Given the description of an element on the screen output the (x, y) to click on. 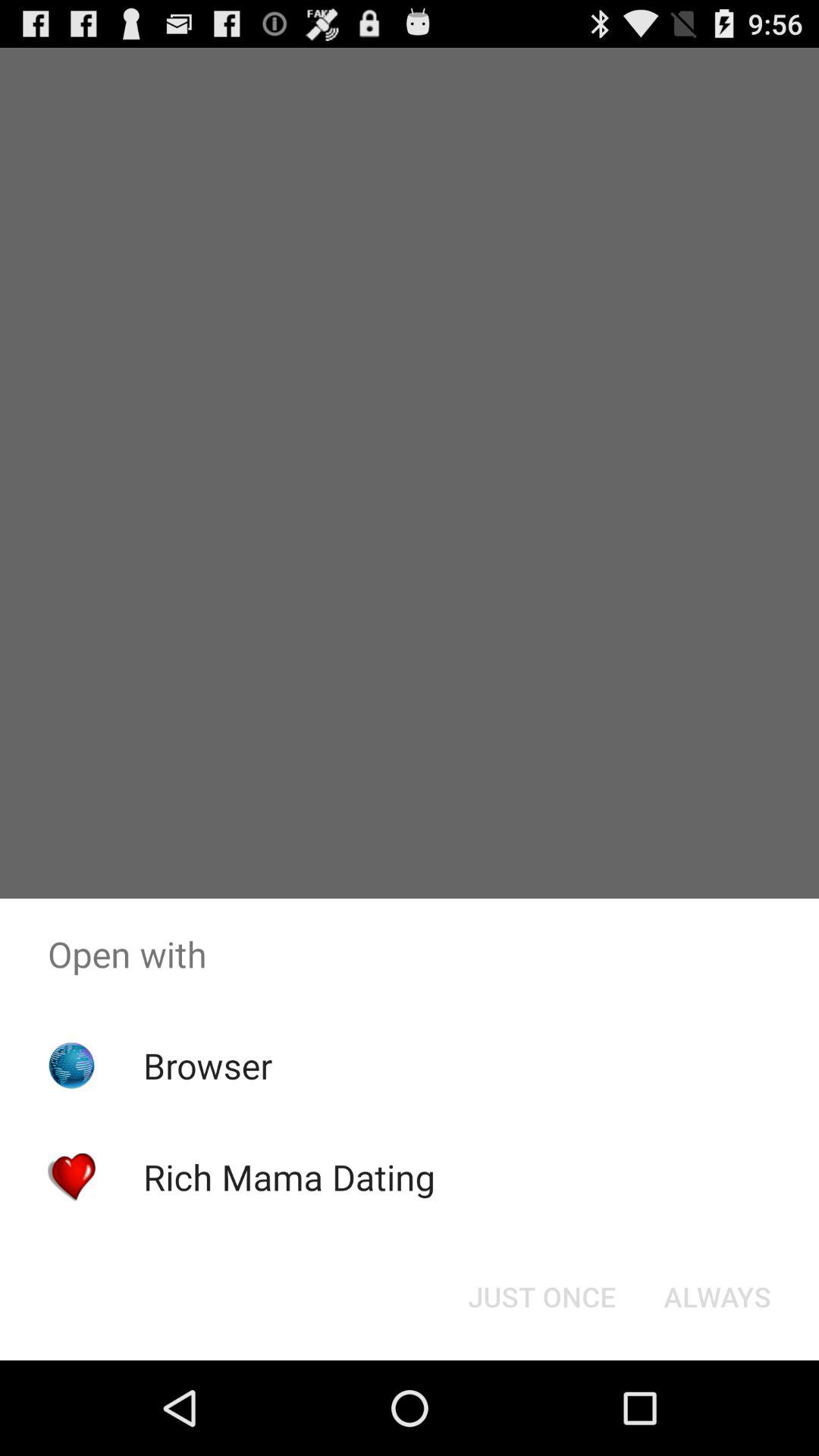
tap the icon above the rich mama dating app (207, 1065)
